Given the description of an element on the screen output the (x, y) to click on. 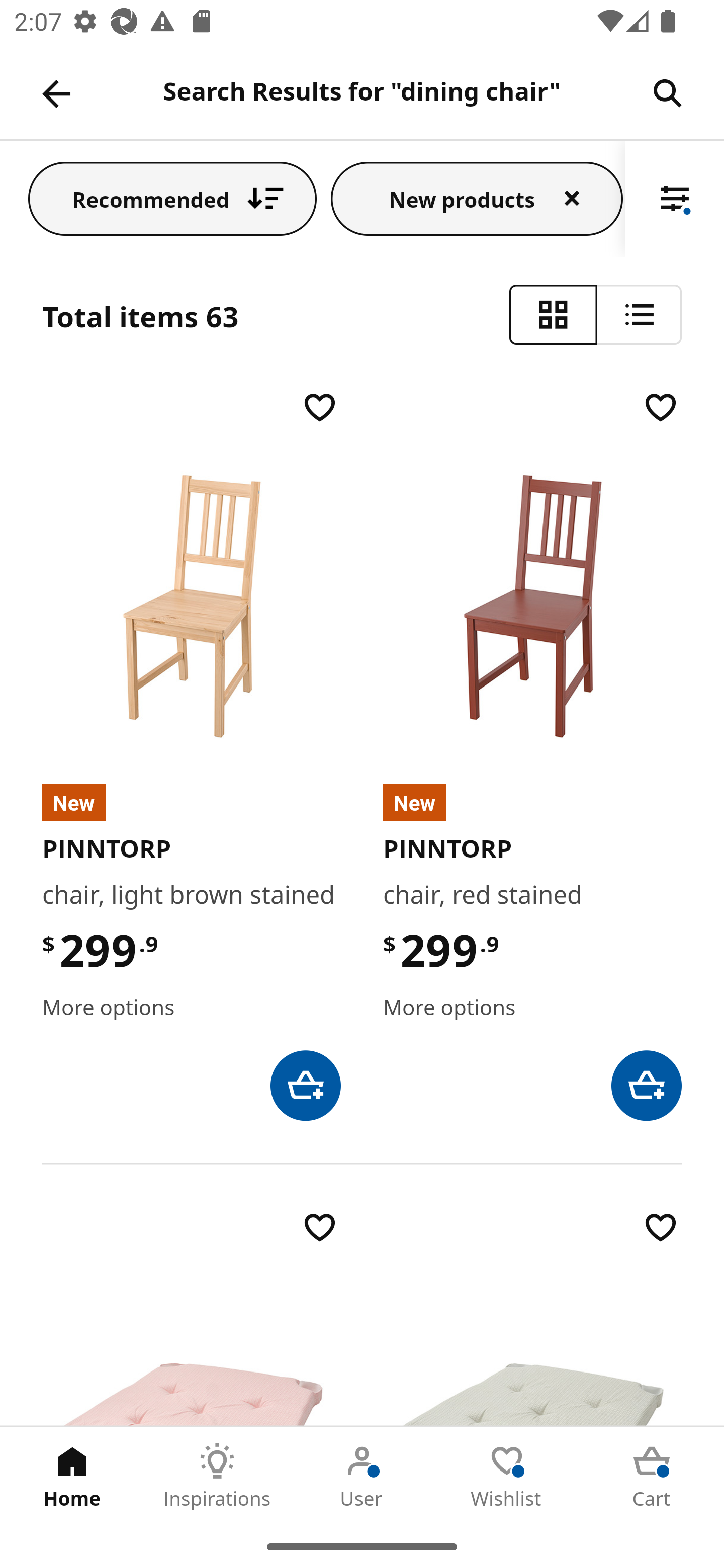
Recommended (172, 198)
New products (476, 198)
Home
Tab 1 of 5 (72, 1476)
Inspirations
Tab 2 of 5 (216, 1476)
User
Tab 3 of 5 (361, 1476)
Wishlist
Tab 4 of 5 (506, 1476)
Cart
Tab 5 of 5 (651, 1476)
